Given the description of an element on the screen output the (x, y) to click on. 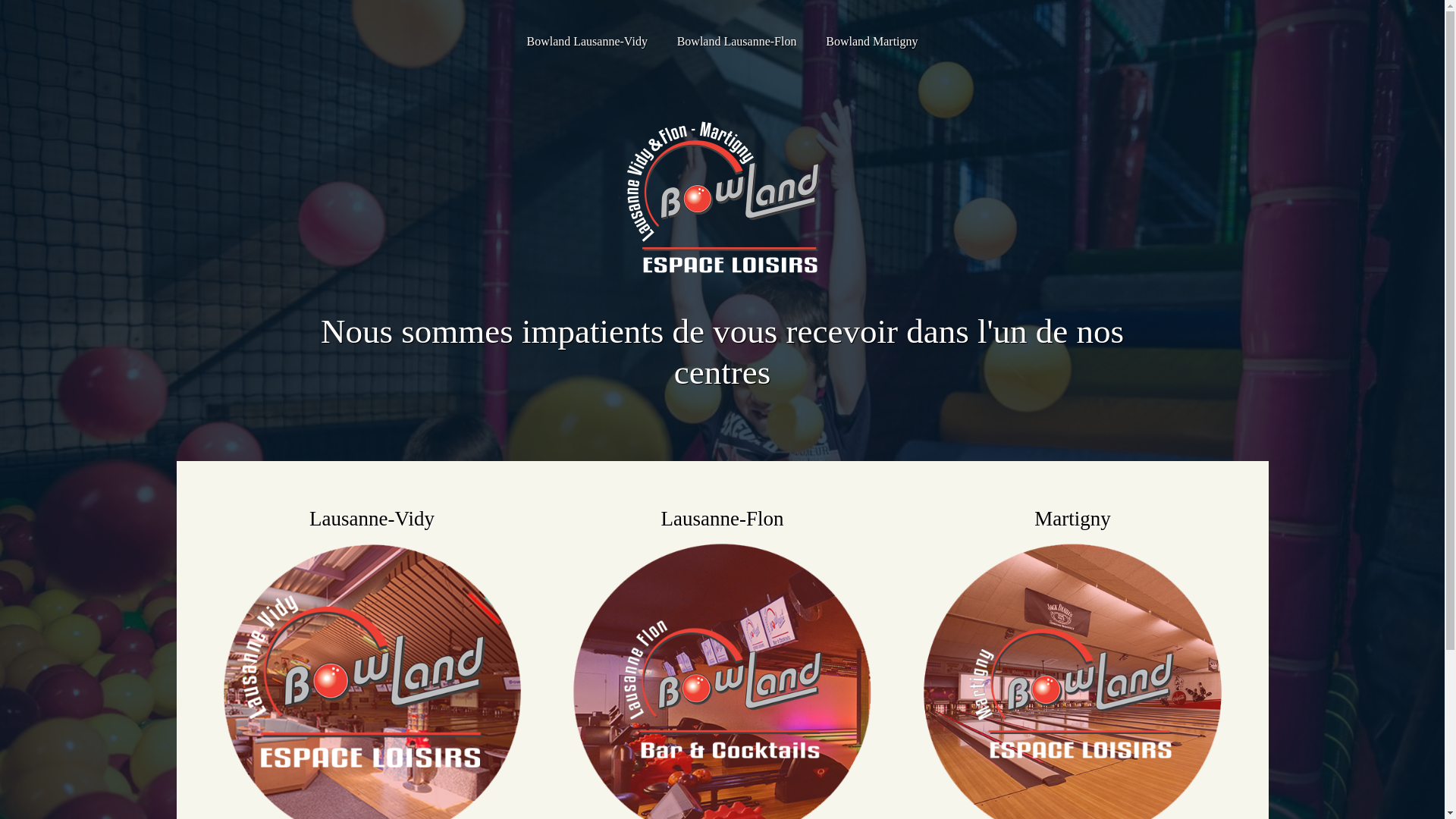
Martigny Element type: text (1071, 518)
Bowland Lausanne-Flon Element type: text (736, 41)
Lausanne-Vidy Element type: text (371, 518)
Lausanne-Flon Element type: text (721, 518)
Bowland Lausanne-Vidy Element type: text (586, 41)
Bowland Martigny Element type: text (871, 41)
